Given the description of an element on the screen output the (x, y) to click on. 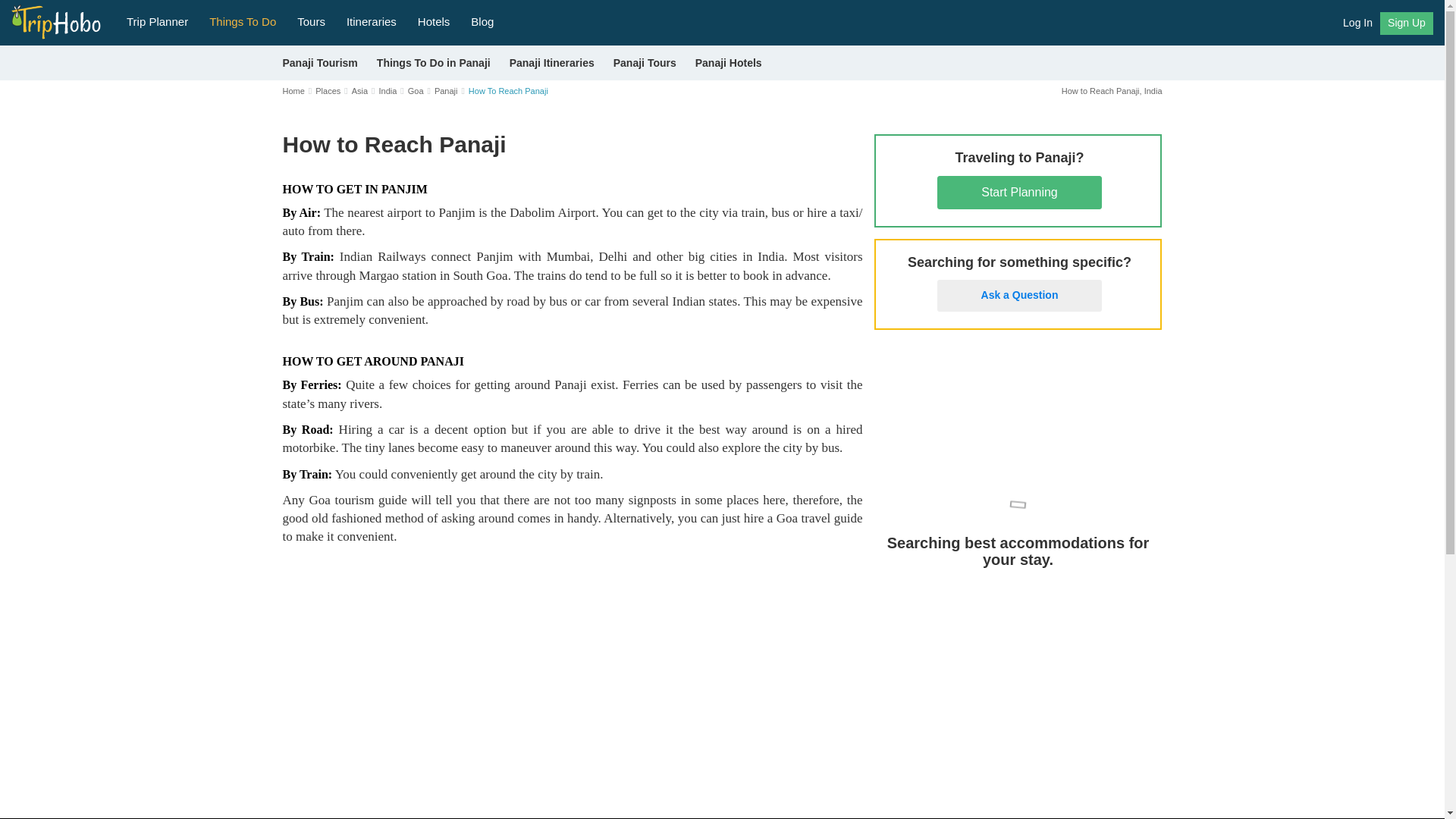
Trip Planner (157, 20)
Panaji Tours (644, 62)
Places (327, 90)
Sign Up (1406, 23)
Trip Planner (157, 20)
India (387, 90)
Hotels (434, 20)
Itineraries (371, 20)
Panaji Hotels (728, 62)
Destinations (242, 20)
Asia (360, 90)
Start Planning (1019, 192)
Panaji Itineraries (551, 62)
Tours (311, 20)
Things To Do in Panaji (433, 62)
